Given the description of an element on the screen output the (x, y) to click on. 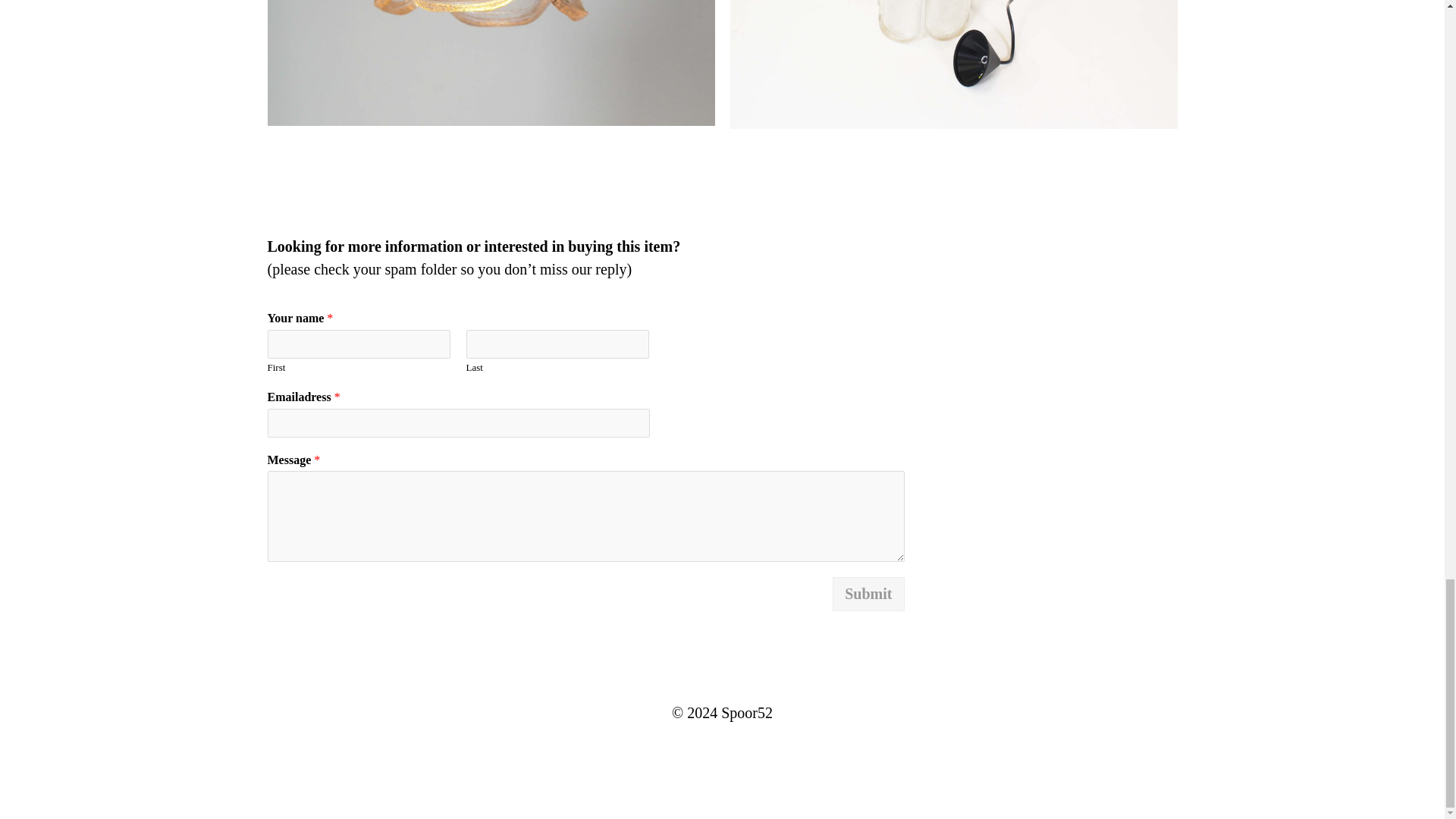
Submit (868, 593)
Spoor52 (746, 712)
